Given the description of an element on the screen output the (x, y) to click on. 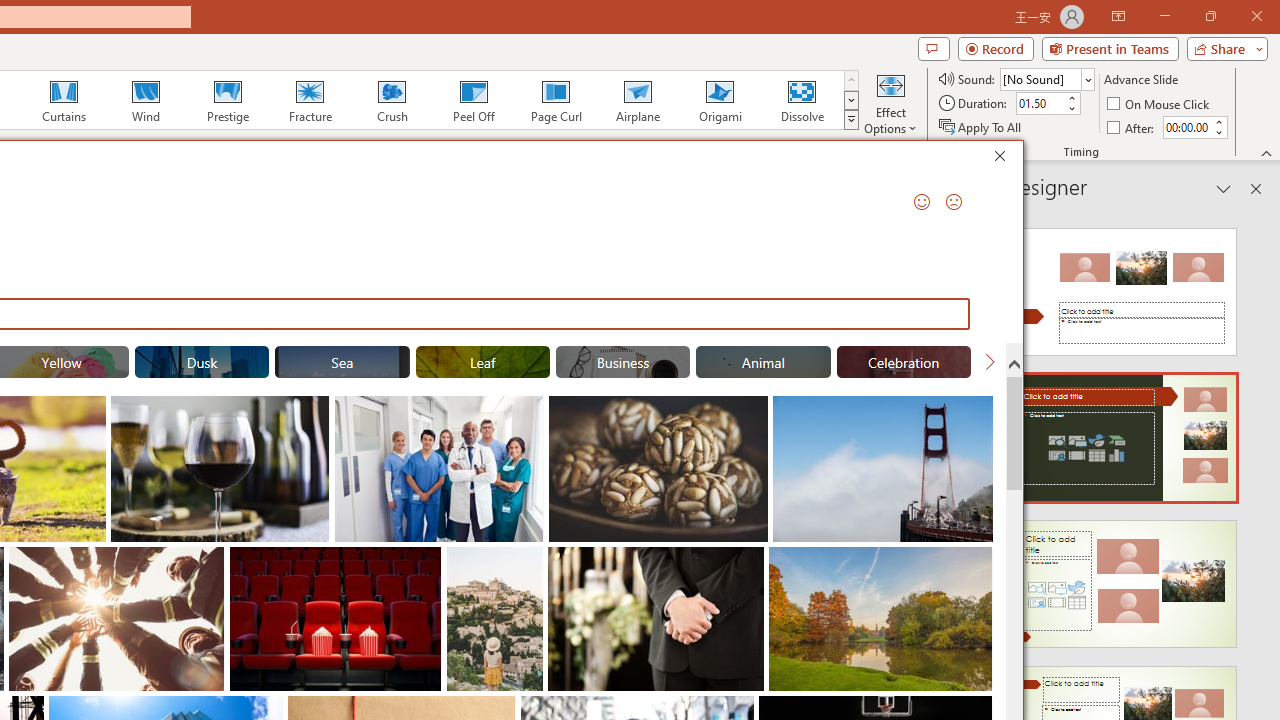
Thumbnail (977, 561)
Effect Options (890, 102)
"Sea" Stock Images. (342, 362)
Next Search Suggestion (990, 362)
Sound (1046, 78)
